Given the description of an element on the screen output the (x, y) to click on. 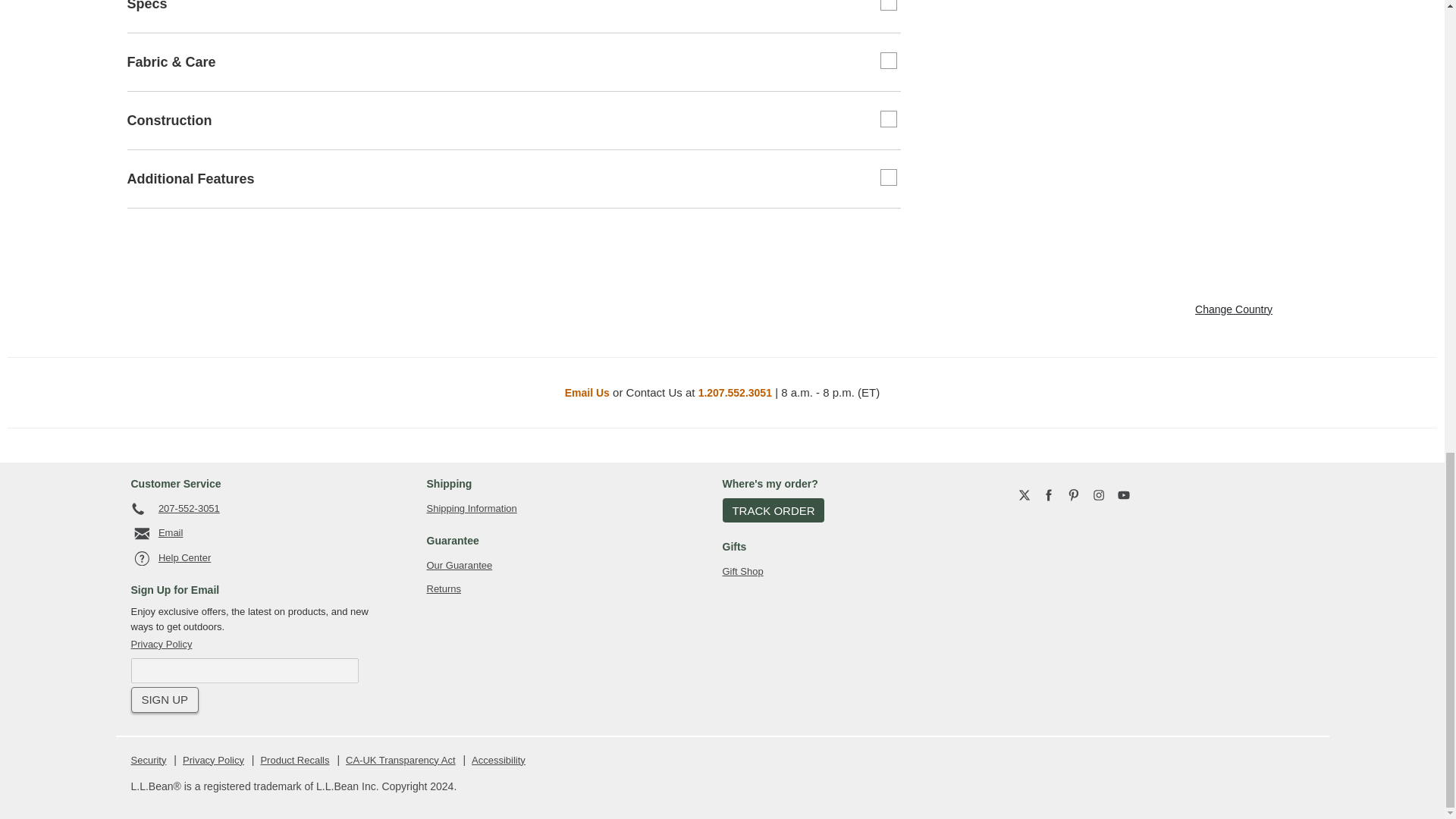
L.L.Bean on Pinterest (1073, 494)
L.L.Bean on Facebook (1048, 494)
L.L.Bean on YouTube (1123, 494)
Track Order (773, 509)
L.L.Bean on Instagram (1099, 494)
L.L.Bean on X (1023, 494)
